Given the description of an element on the screen output the (x, y) to click on. 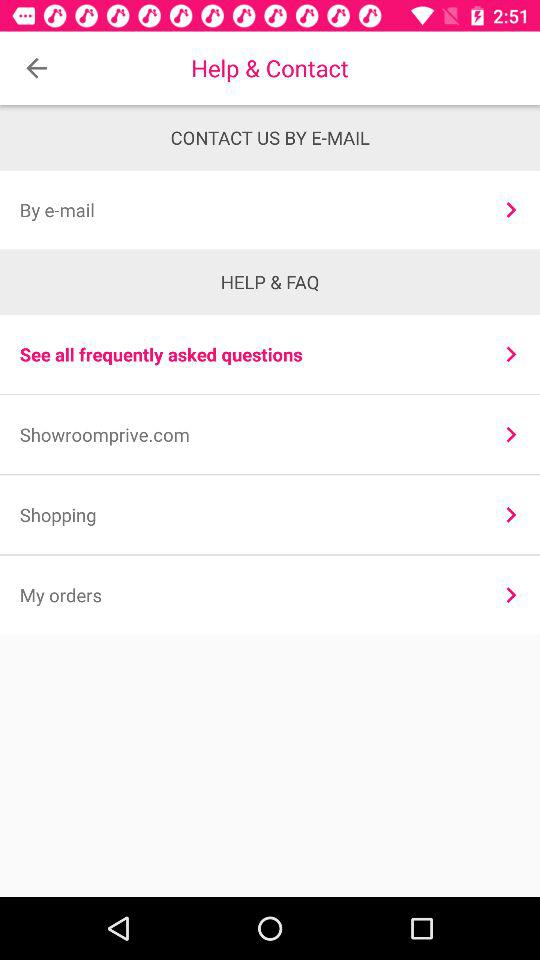
open item below the shopping icon (510, 594)
